Given the description of an element on the screen output the (x, y) to click on. 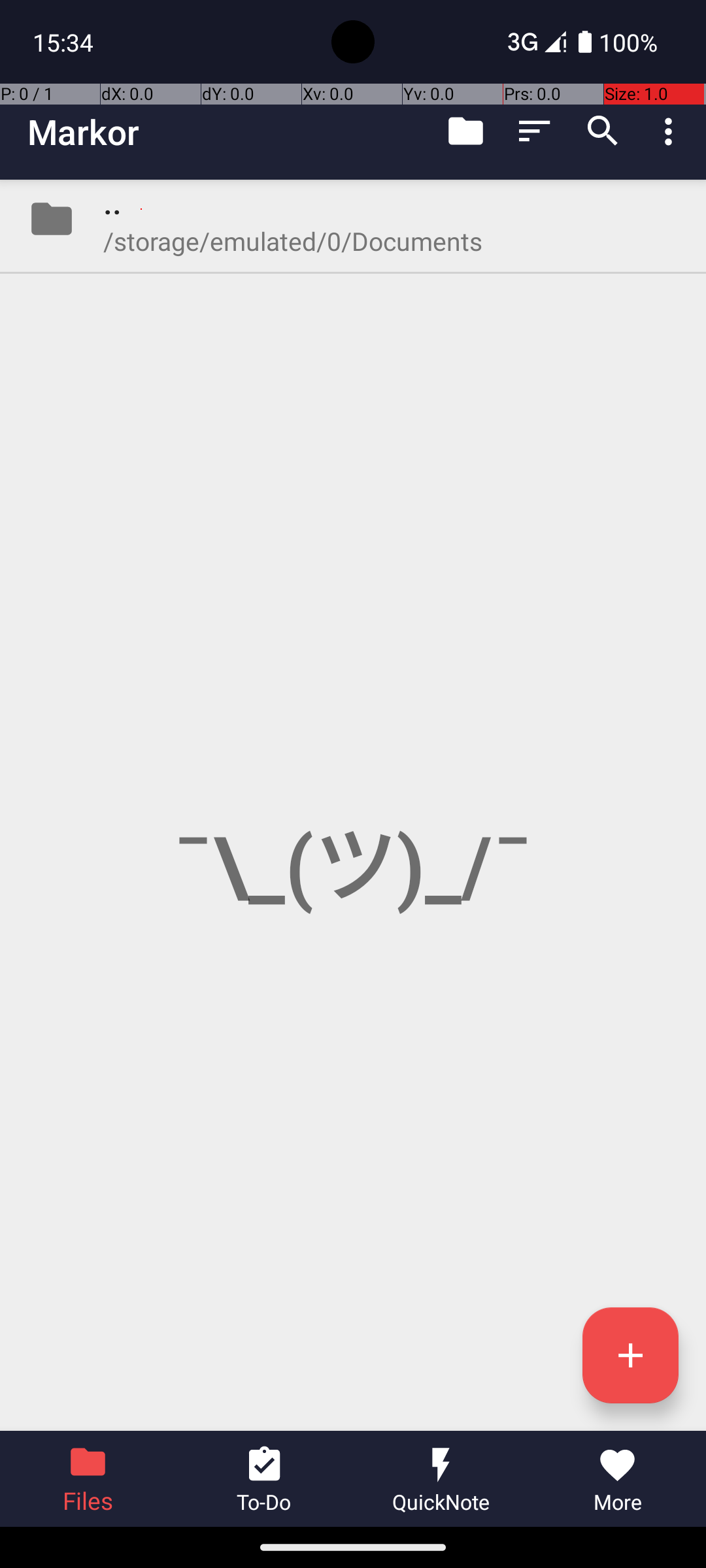
¯\_(ツ)_/¯ Element type: android.widget.TextView (353, 804)
